Given the description of an element on the screen output the (x, y) to click on. 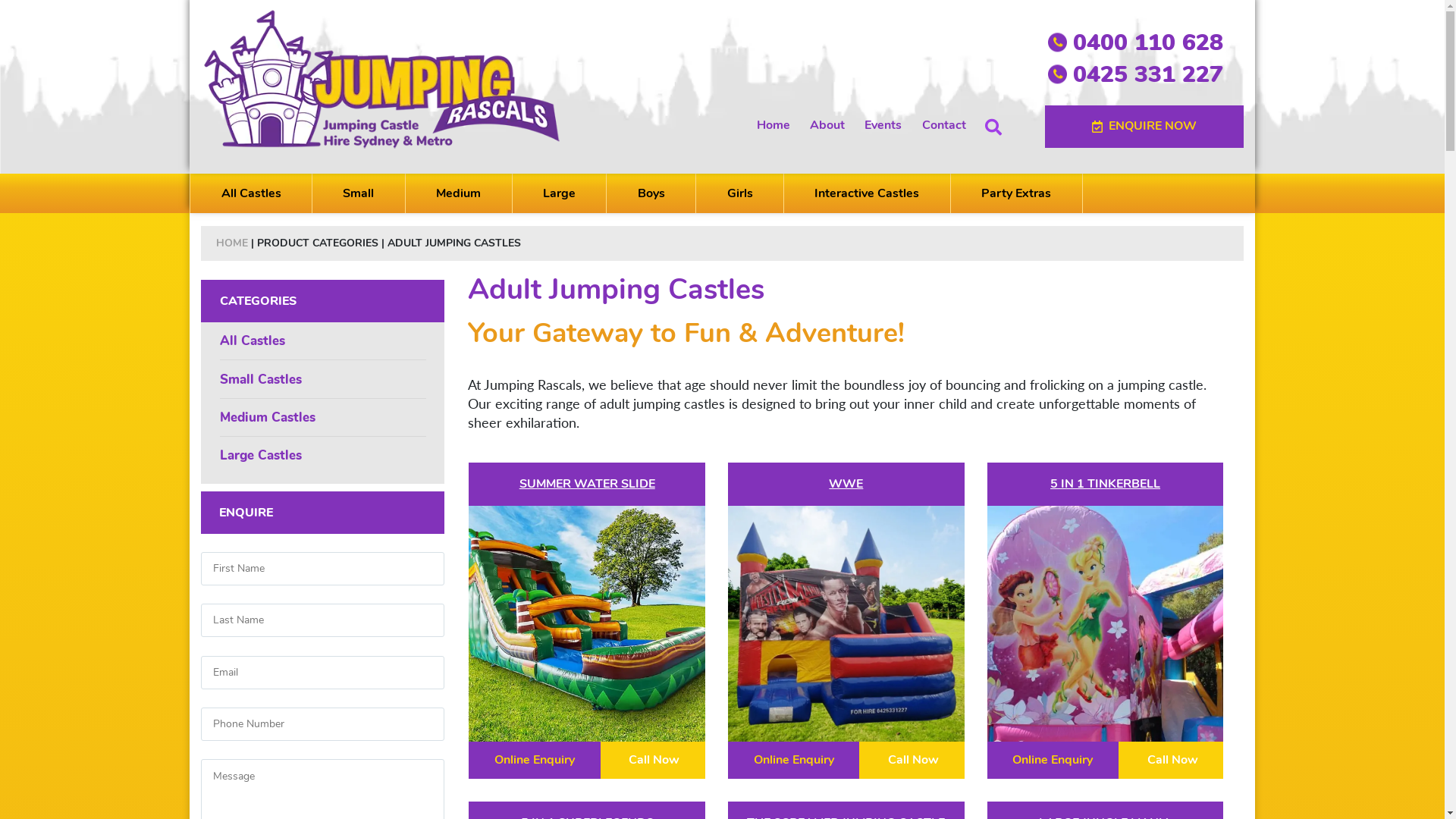
Small Element type: text (358, 193)
All Castles Element type: text (250, 193)
Small Castles Element type: text (322, 379)
Online Enquiry Element type: text (793, 759)
5 IN 1 TINKERBELL Element type: text (1105, 483)
Call Now Element type: text (911, 759)
Girls Element type: text (739, 193)
Contact Element type: text (944, 124)
Party Extras Element type: text (1016, 193)
Call Now Element type: text (1170, 759)
Medium Castles Element type: text (322, 417)
SUMMER WATER SLIDE Element type: text (586, 483)
Medium Element type: text (458, 193)
0425 331 227 Element type: text (1156, 74)
Online Enquiry Element type: text (533, 759)
ENQUIRE NOW Element type: text (1143, 126)
All Castles Element type: text (322, 341)
Large Castles Element type: text (322, 454)
HOME Element type: text (231, 242)
Events Element type: text (882, 124)
Interactive Castles Element type: text (867, 193)
Large Element type: text (559, 193)
About Element type: text (826, 124)
Home Element type: text (773, 124)
Call Now Element type: text (652, 759)
Online Enquiry Element type: text (1052, 759)
0400 110 628 Element type: text (1156, 42)
Boys Element type: text (650, 193)
WWE Element type: text (846, 483)
